Given the description of an element on the screen output the (x, y) to click on. 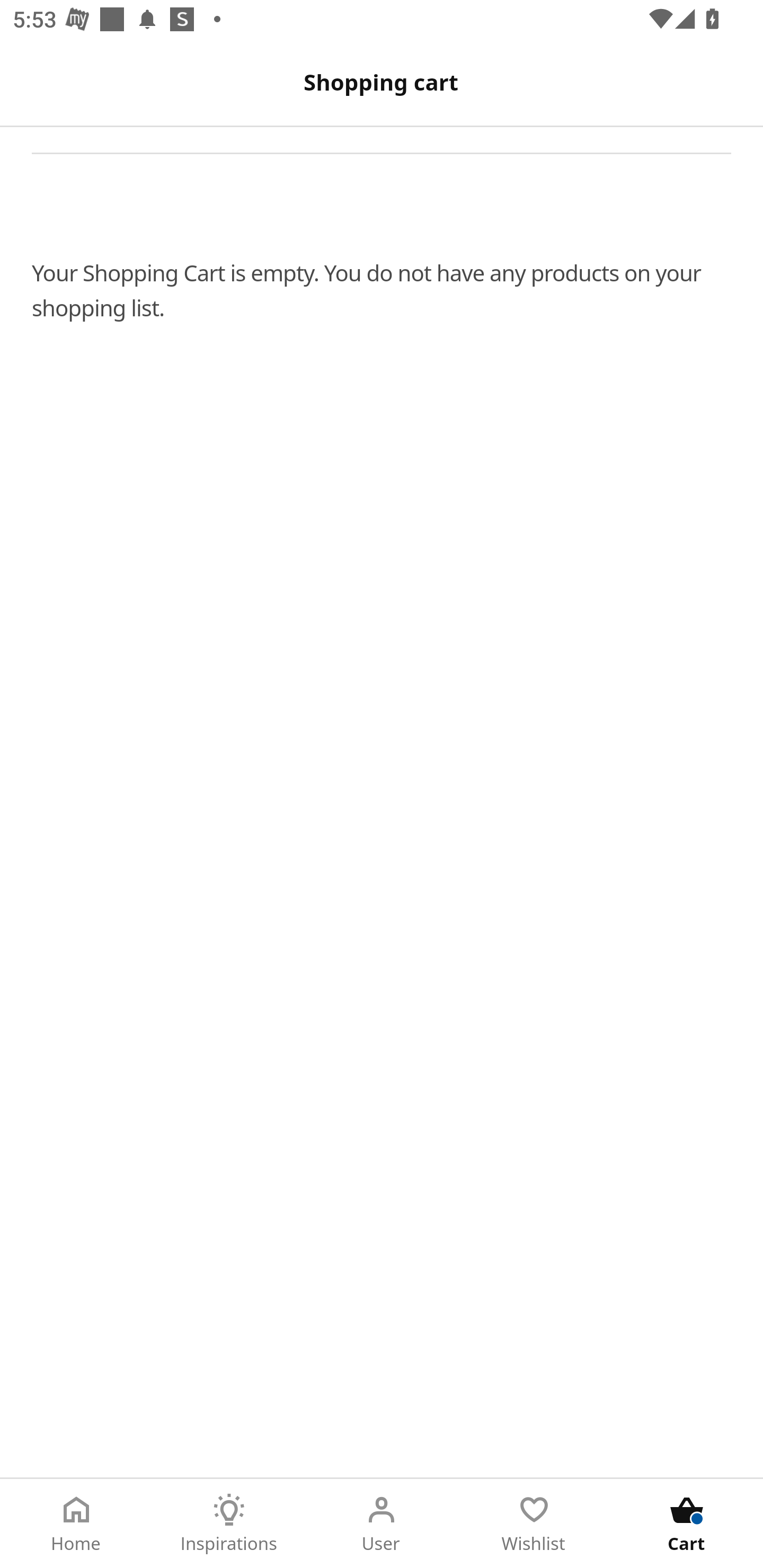
Home
Tab 1 of 5 (76, 1522)
Inspirations
Tab 2 of 5 (228, 1522)
User
Tab 3 of 5 (381, 1522)
Wishlist
Tab 4 of 5 (533, 1522)
Cart
Tab 5 of 5 (686, 1522)
